Given the description of an element on the screen output the (x, y) to click on. 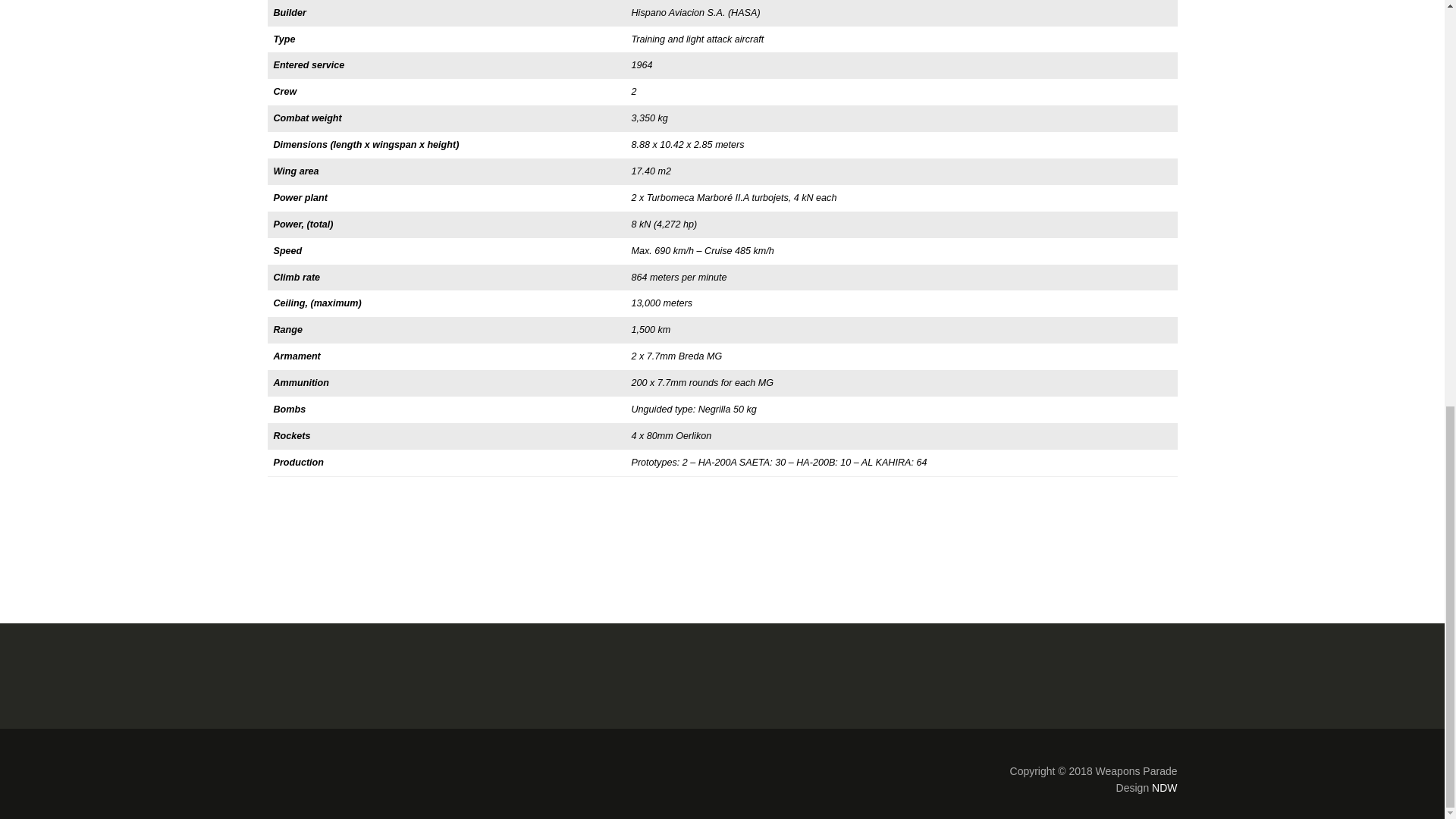
web design spain (1163, 787)
